Given the description of an element on the screen output the (x, y) to click on. 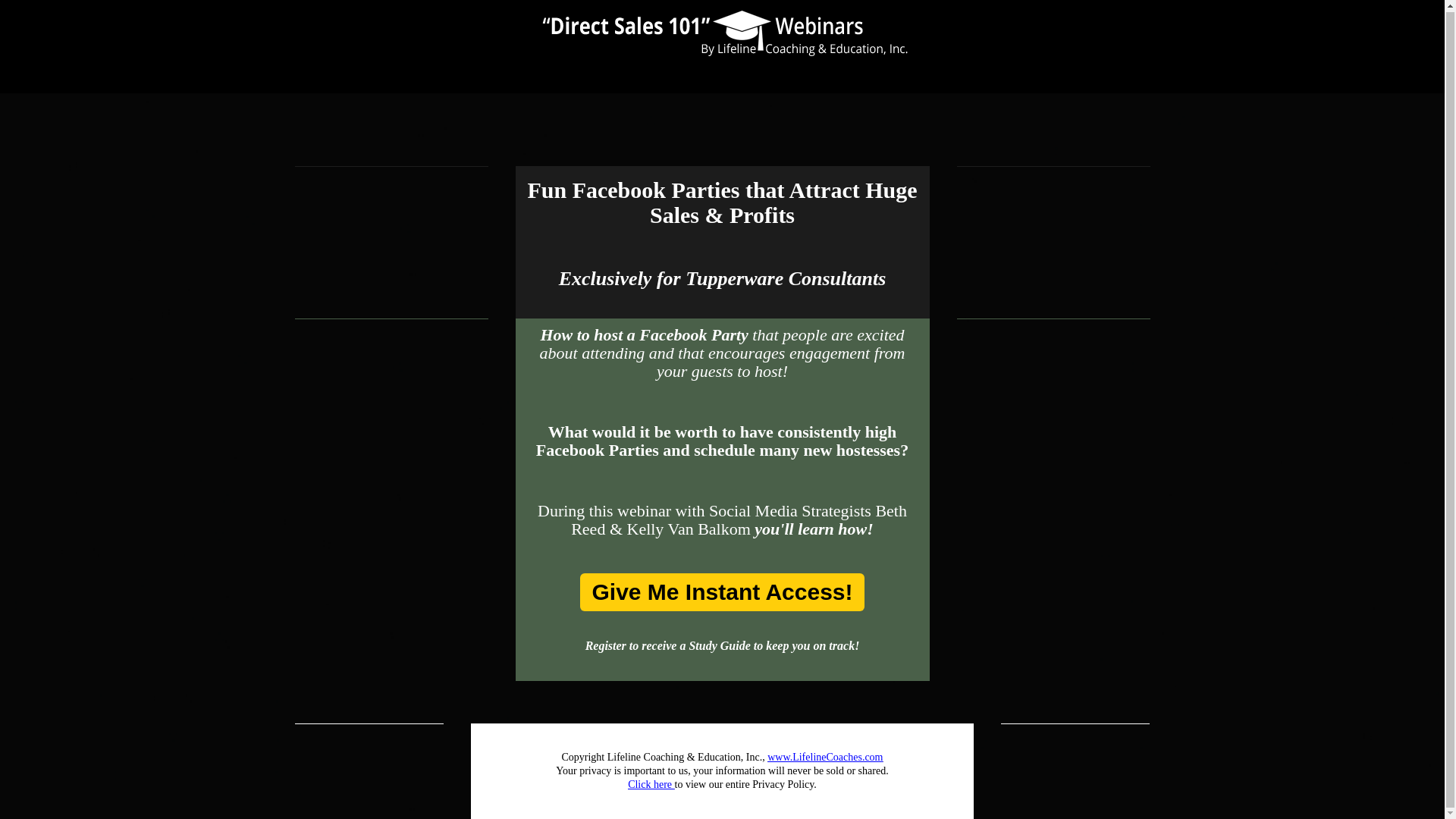
Direct Sales 101 Webinar (721, 31)
www.LifelineCoaches.com (824, 756)
Click here (757, 790)
Give Me Instant Access! (721, 591)
